Given the description of an element on the screen output the (x, y) to click on. 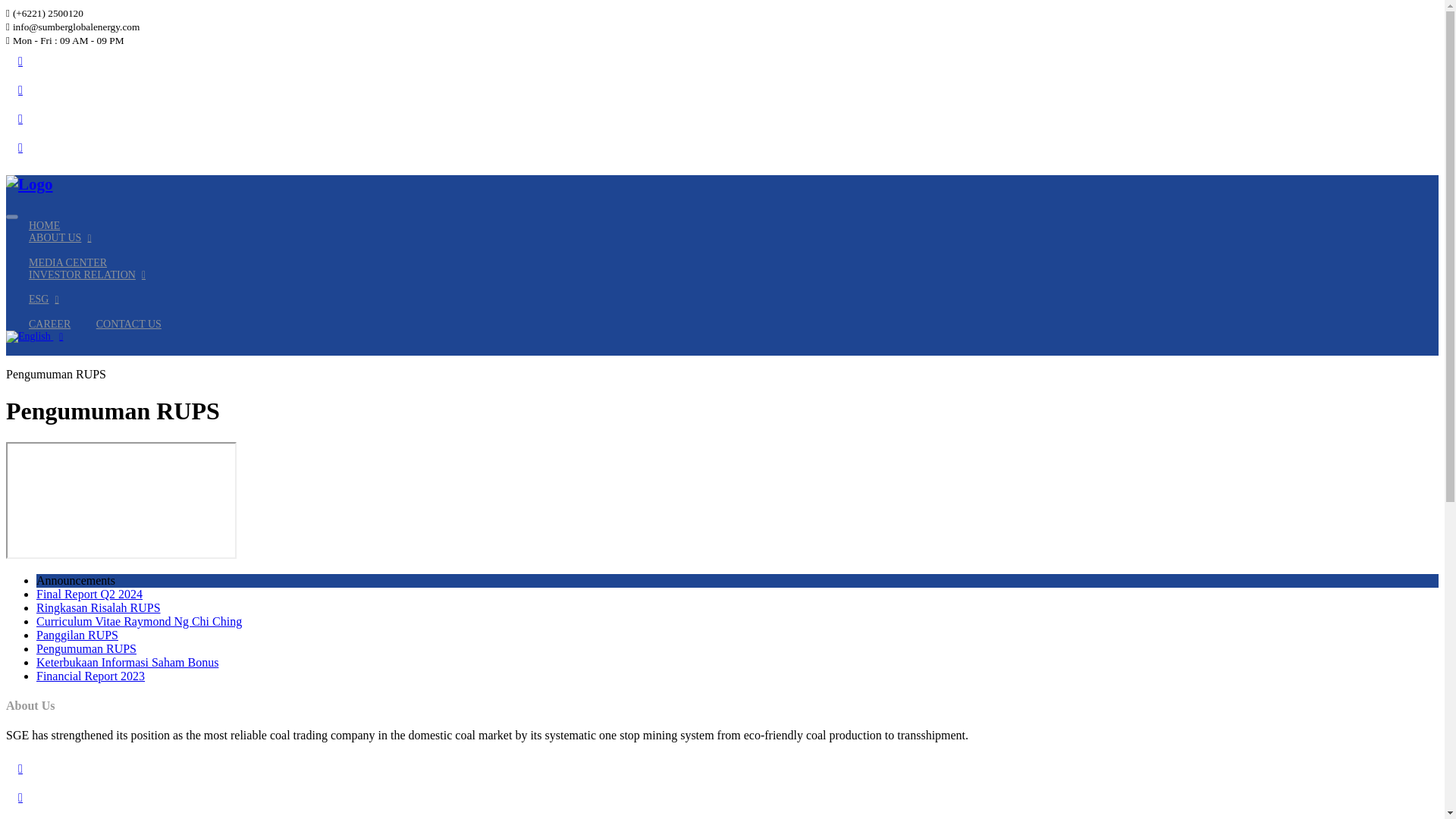
MEDIA CENTER (67, 262)
Panggilan RUPS (76, 634)
ABOUT US (60, 237)
INVESTOR RELATION (87, 274)
CONTACT US (128, 323)
Keterbukaan Informasi Saham Bonus (127, 662)
Pengumuman RUPS (86, 648)
Curriculum Vitae Raymond Ng Chi Ching (138, 621)
Ringkasan Risalah RUPS (98, 607)
Final Report Q2 2024 (89, 594)
